Given the description of an element on the screen output the (x, y) to click on. 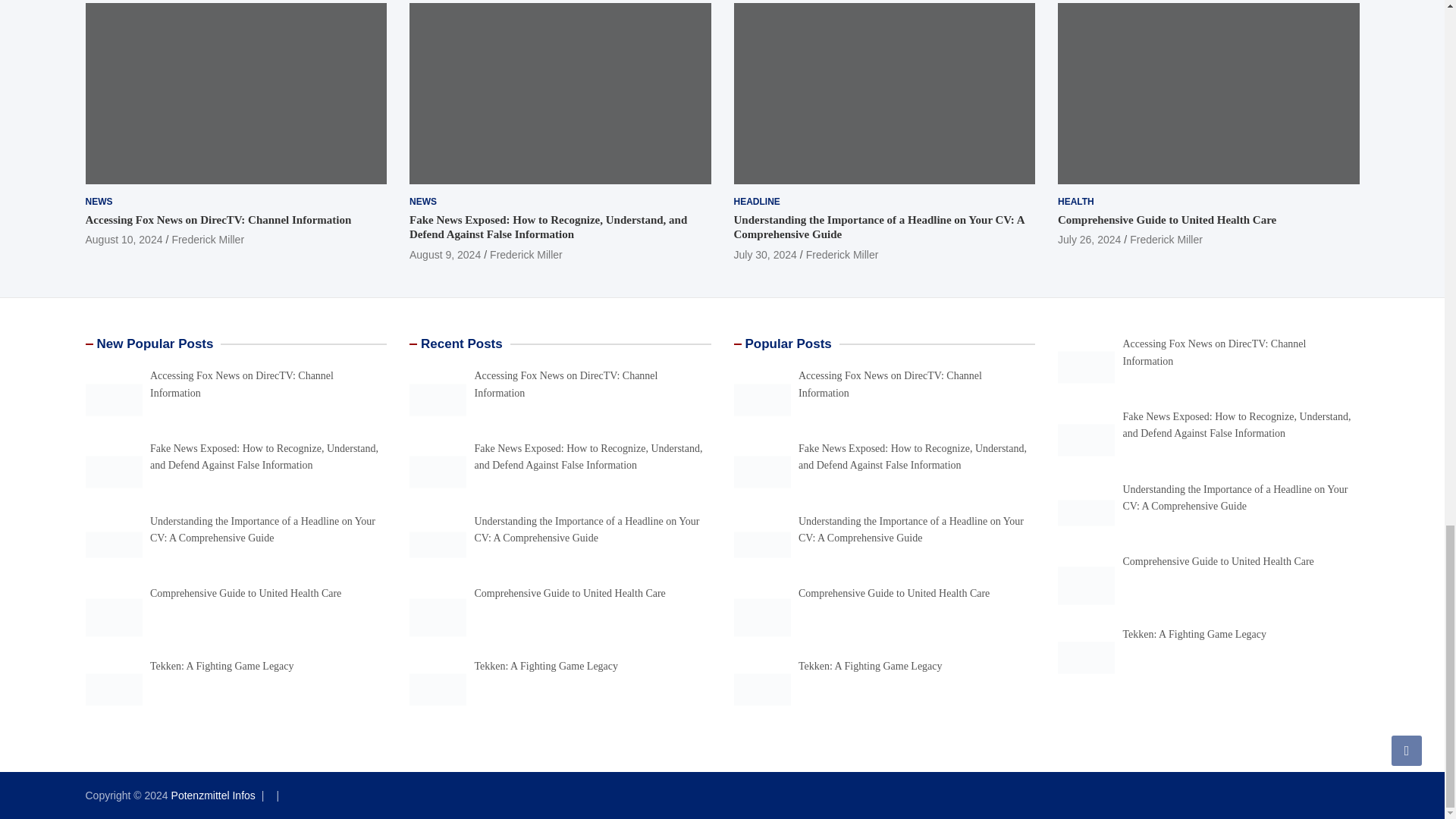
Potenzmittel Infos (213, 795)
Comprehensive Guide to United Health Care (1089, 239)
Accessing Fox News on DirecTV: Channel Information (122, 239)
